Given the description of an element on the screen output the (x, y) to click on. 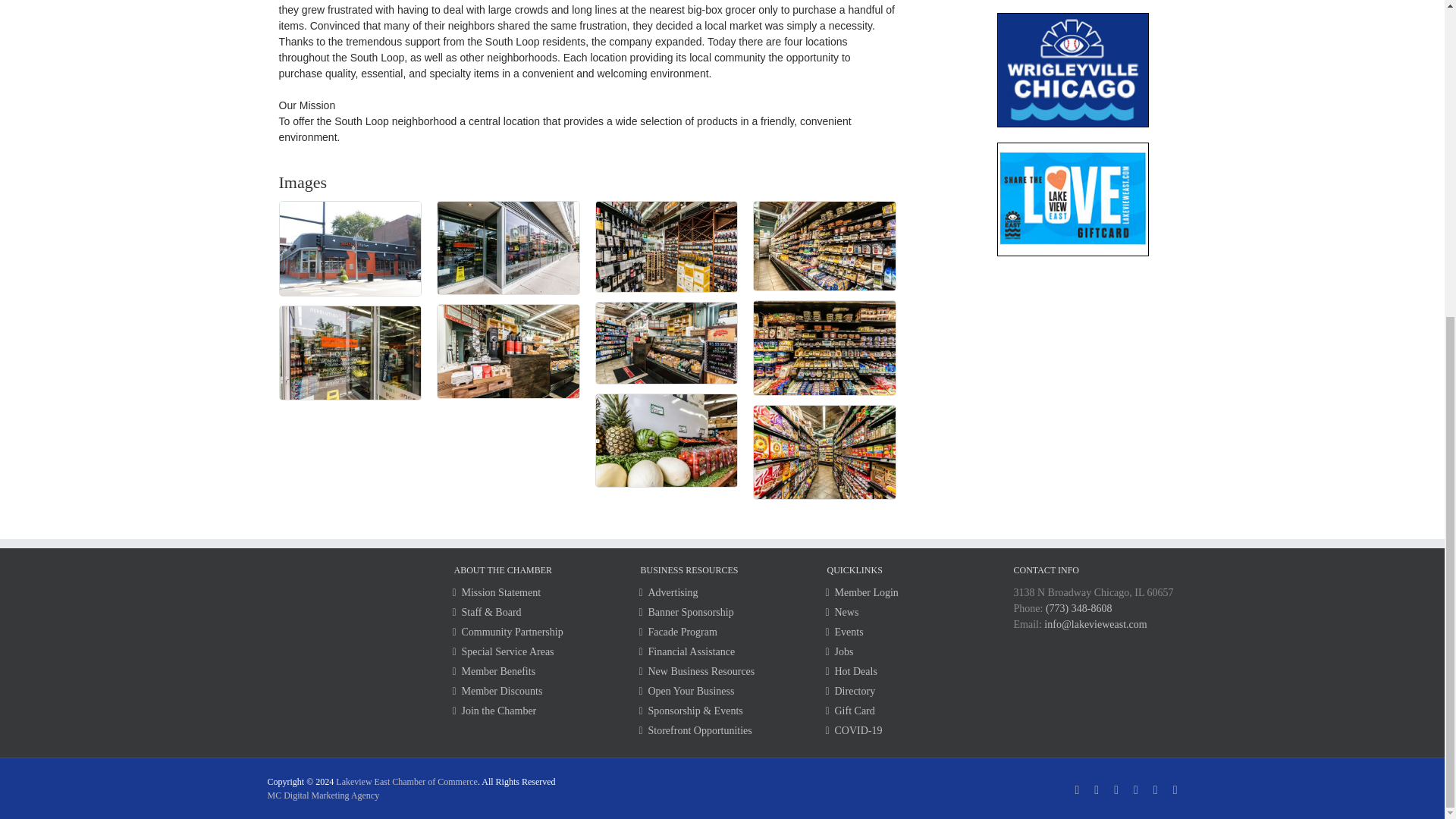
Gallery Image store1.JPG (349, 352)
Gallery Image store3.JPG (508, 247)
